Given the description of an element on the screen output the (x, y) to click on. 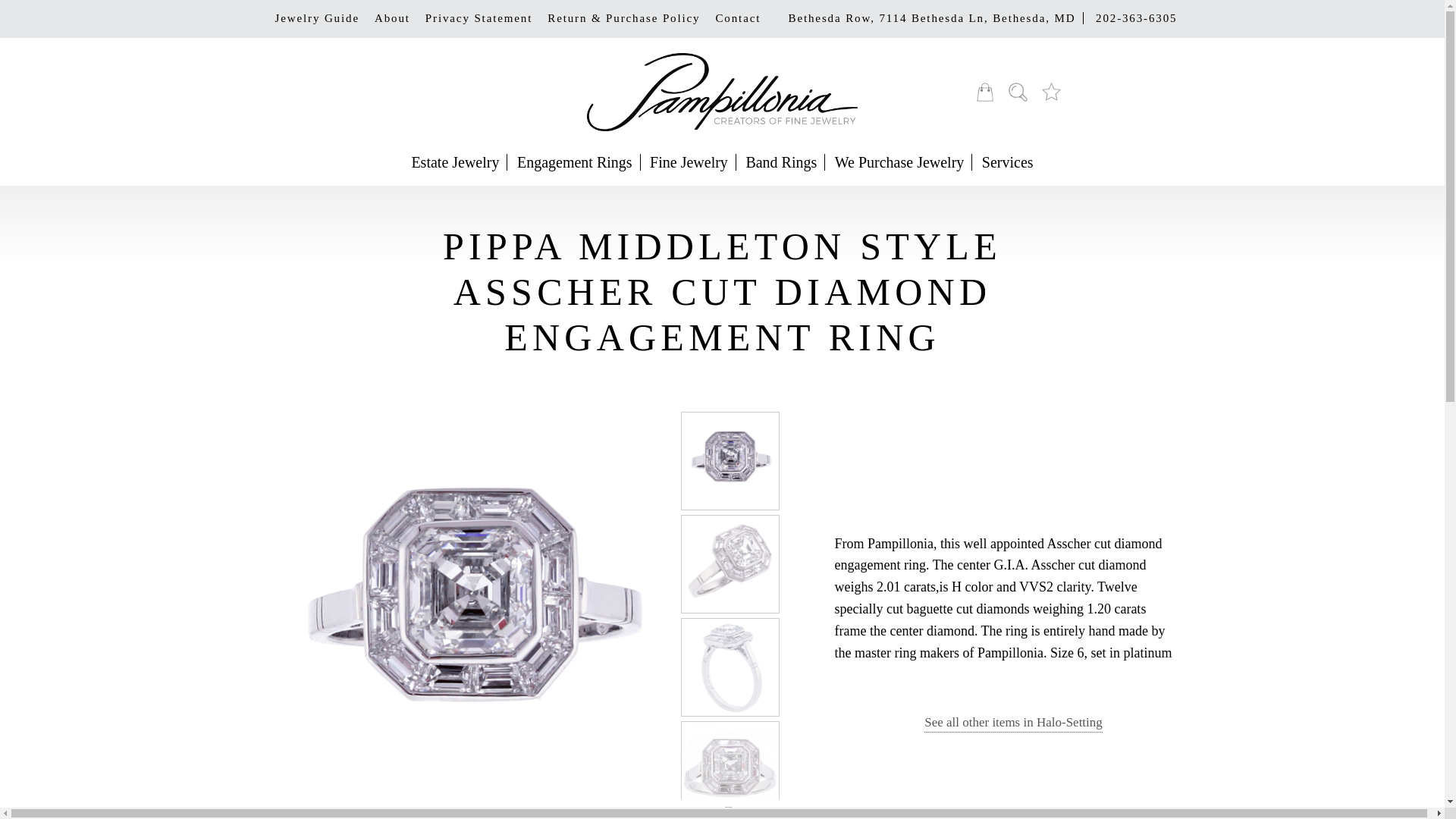
Fine Jewelry (688, 161)
Search (1018, 91)
Favorite (1051, 91)
Engagement Rings (574, 161)
Estate Jewelry (454, 161)
Bethesda Row, 7114 Bethesda Ln, Bethesda, MD (932, 18)
Services (1007, 161)
Contact (737, 18)
See all other items in Halo-Setting (1013, 723)
Jewelry Guide (316, 18)
